Given the description of an element on the screen output the (x, y) to click on. 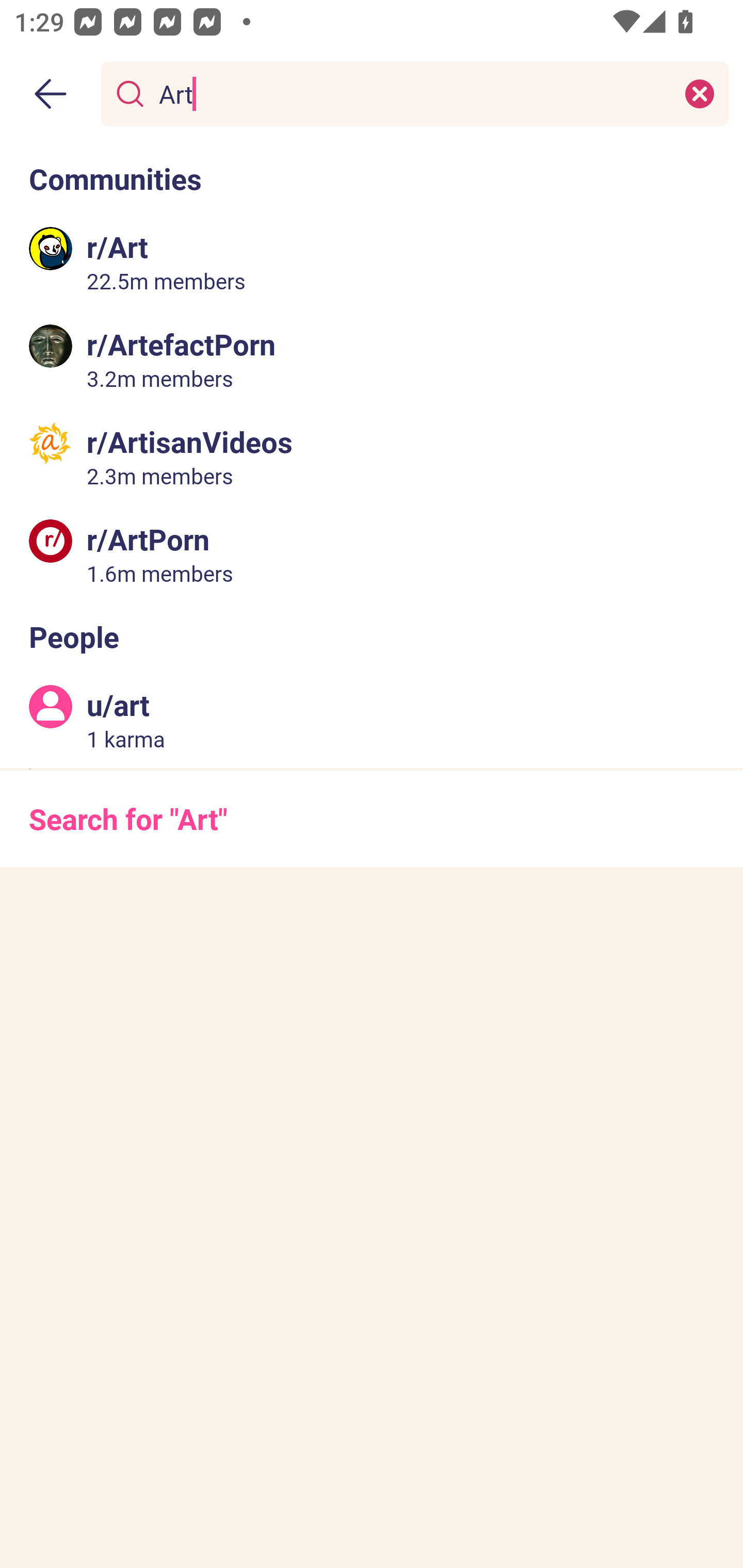
Back (50, 93)
Art (410, 93)
Clear search (699, 93)
r/Art 22.5m members 22.5 million members (371, 261)
r/ArtefactPorn 3.2m members 3.2 million members (371, 358)
r/ArtisanVideos 2.3m members 2.3 million members (371, 455)
r/ArtPorn 1.6m members 1.6 million members (371, 553)
u/art 1 karma 1 karma (371, 719)
Search for "Art" (371, 818)
